Given the description of an element on the screen output the (x, y) to click on. 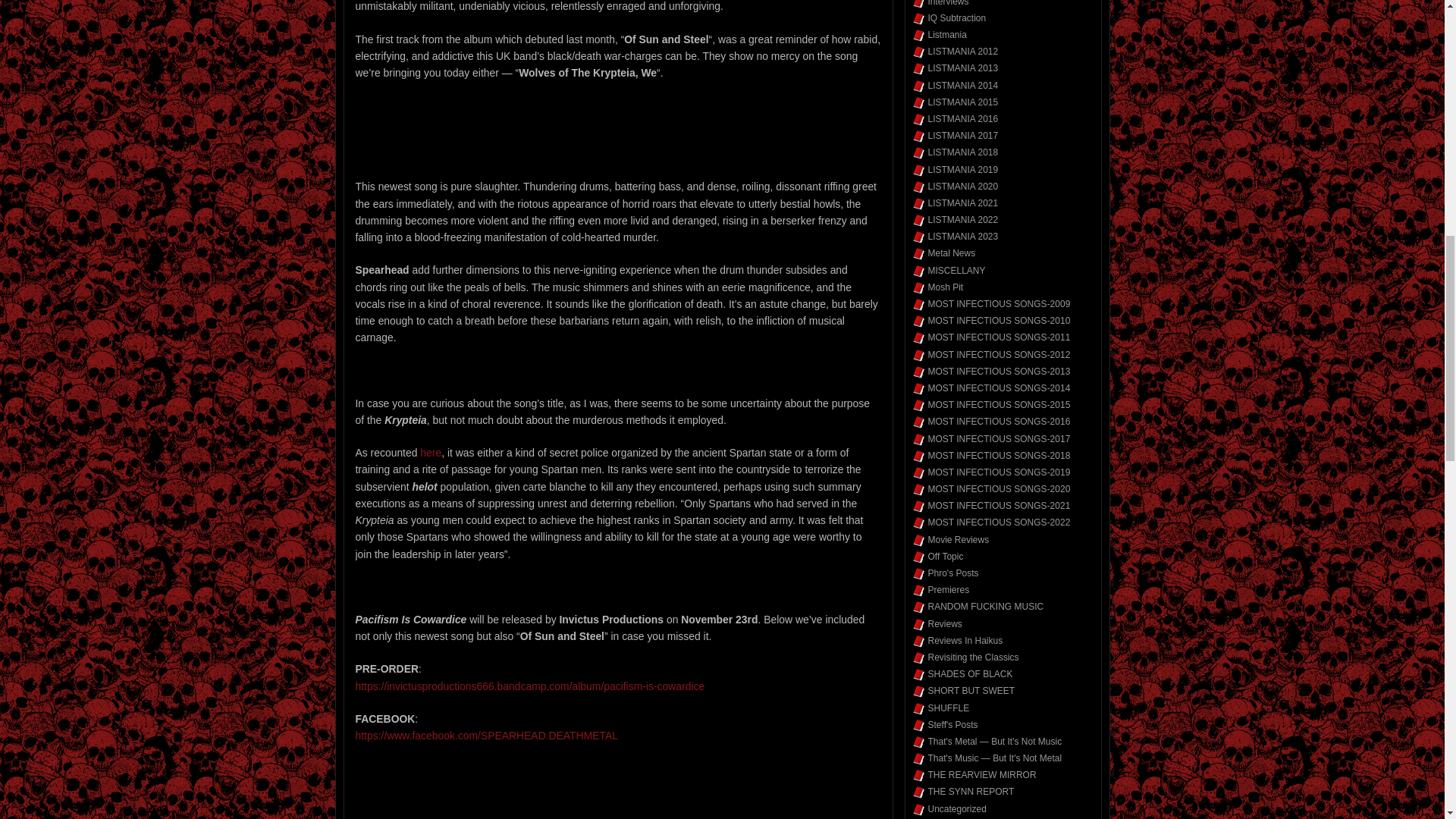
here (430, 452)
